Given the description of an element on the screen output the (x, y) to click on. 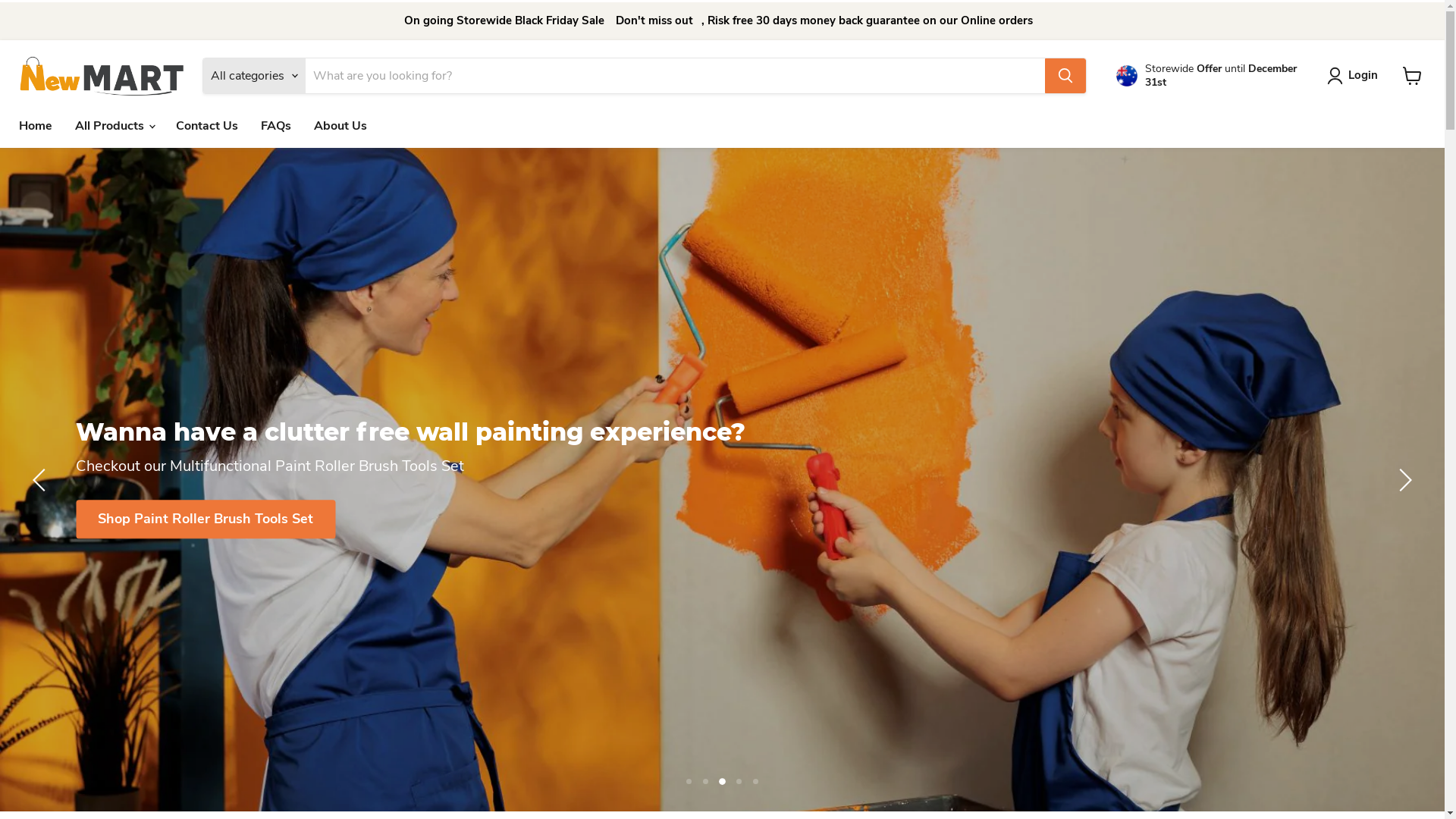
Slide 2 Element type: text (704, 780)
Slide 1 Element type: text (688, 781)
Slide 5 Element type: text (755, 781)
Home Element type: text (35, 125)
View cart Element type: text (1412, 75)
Slide 4 Element type: text (738, 781)
Contact Us Element type: text (206, 125)
Slide 3 Element type: text (721, 781)
FAQs Element type: text (275, 125)
Explore Element type: text (121, 519)
Login Element type: text (1355, 75)
About Us Element type: text (340, 125)
